Given the description of an element on the screen output the (x, y) to click on. 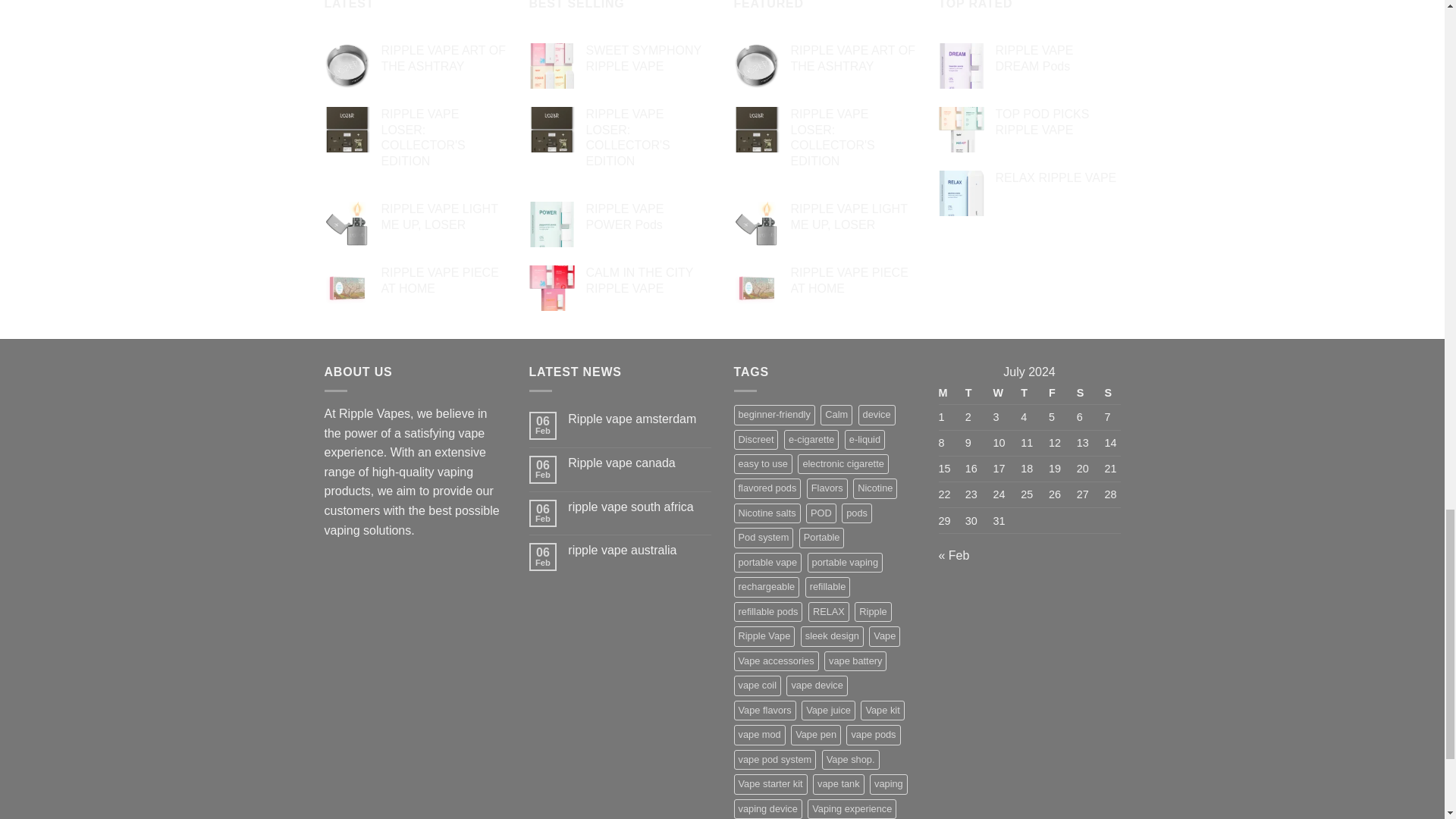
ripple vape south africa (638, 506)
Ripple vape amsterdam (638, 418)
Ripple vape canada (638, 462)
